Given the description of an element on the screen output the (x, y) to click on. 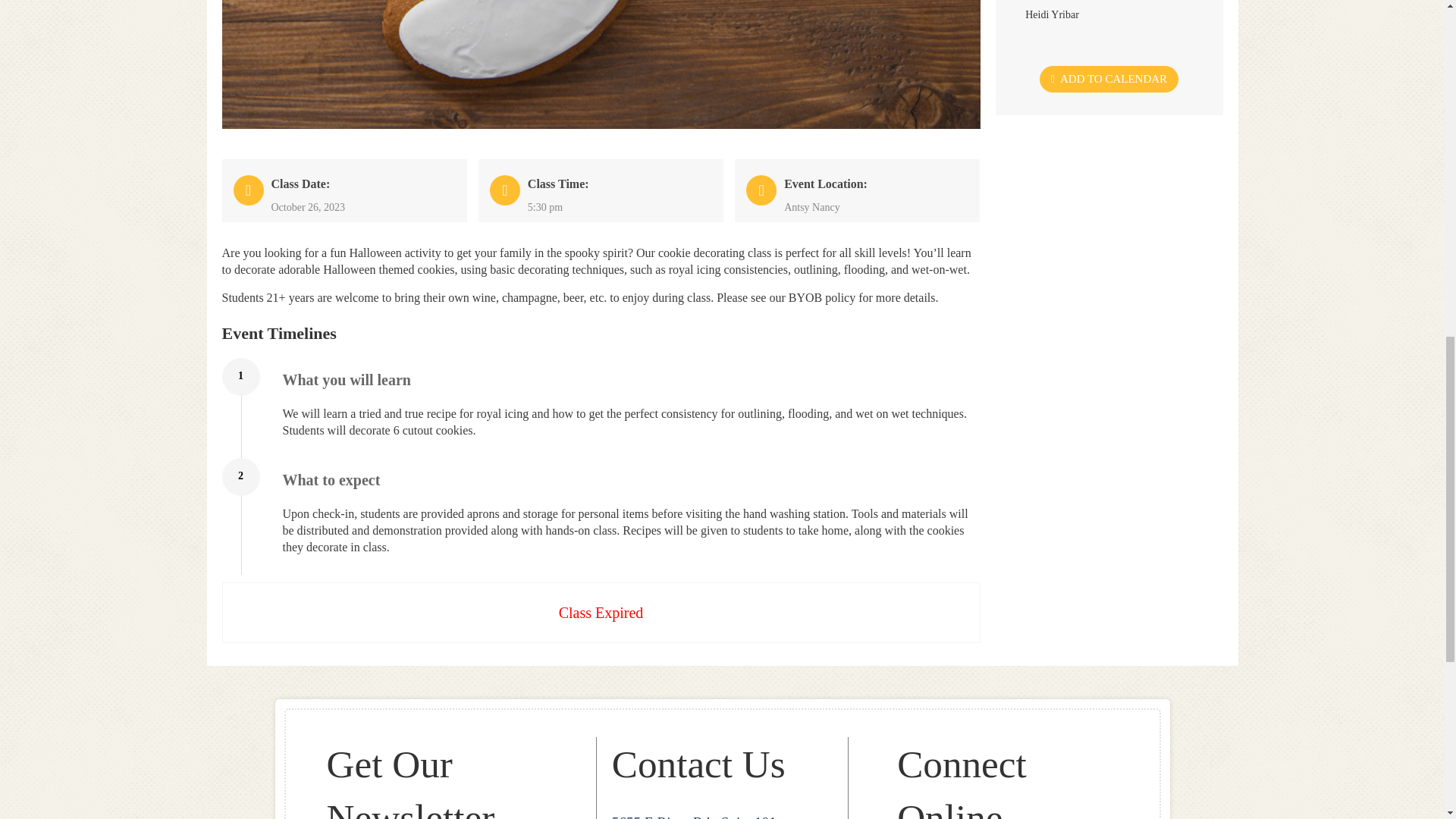
Heidi Yribar (1052, 13)
